Given the description of an element on the screen output the (x, y) to click on. 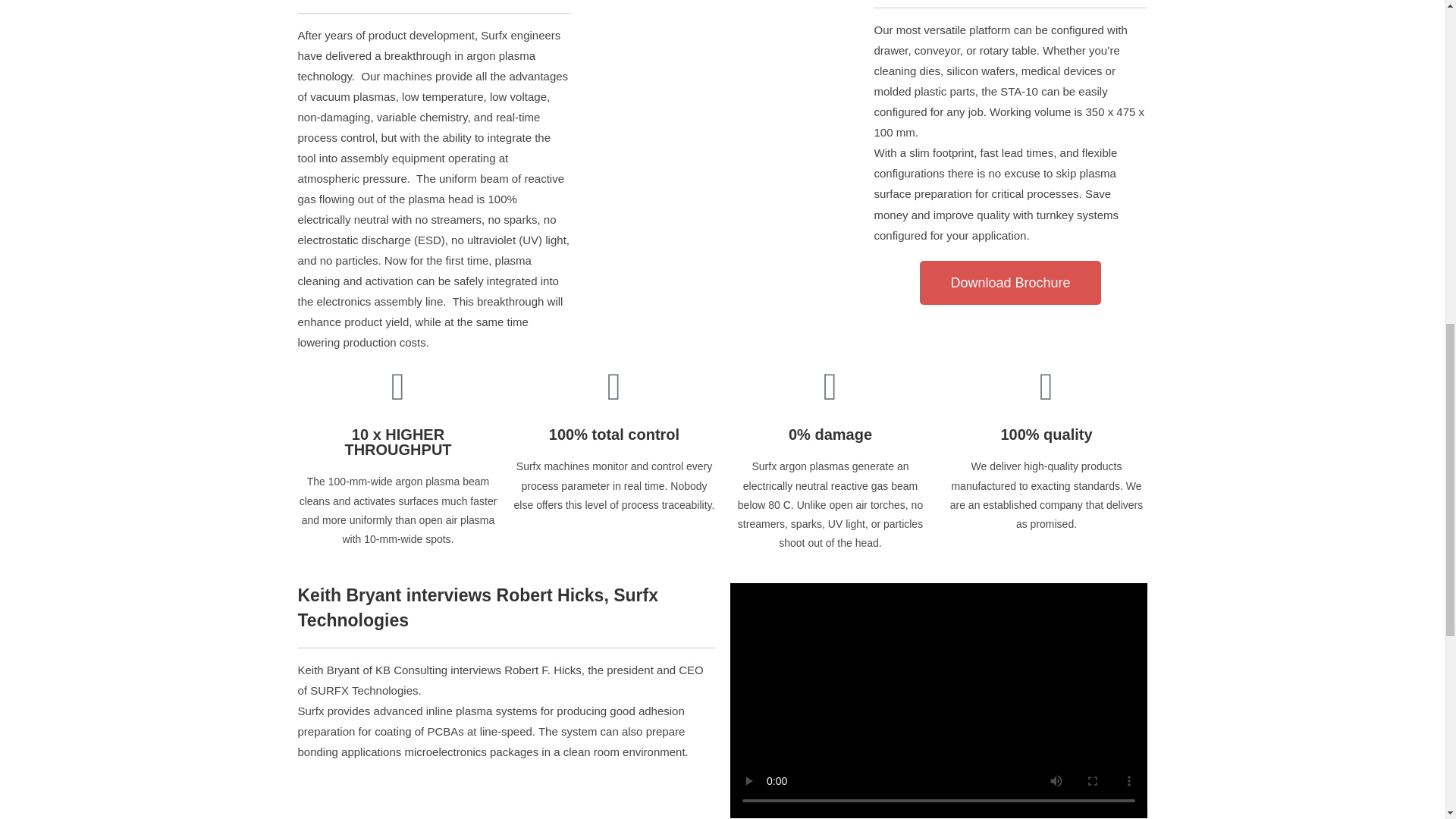
Download Brochure (1010, 282)
